Given the description of an element on the screen output the (x, y) to click on. 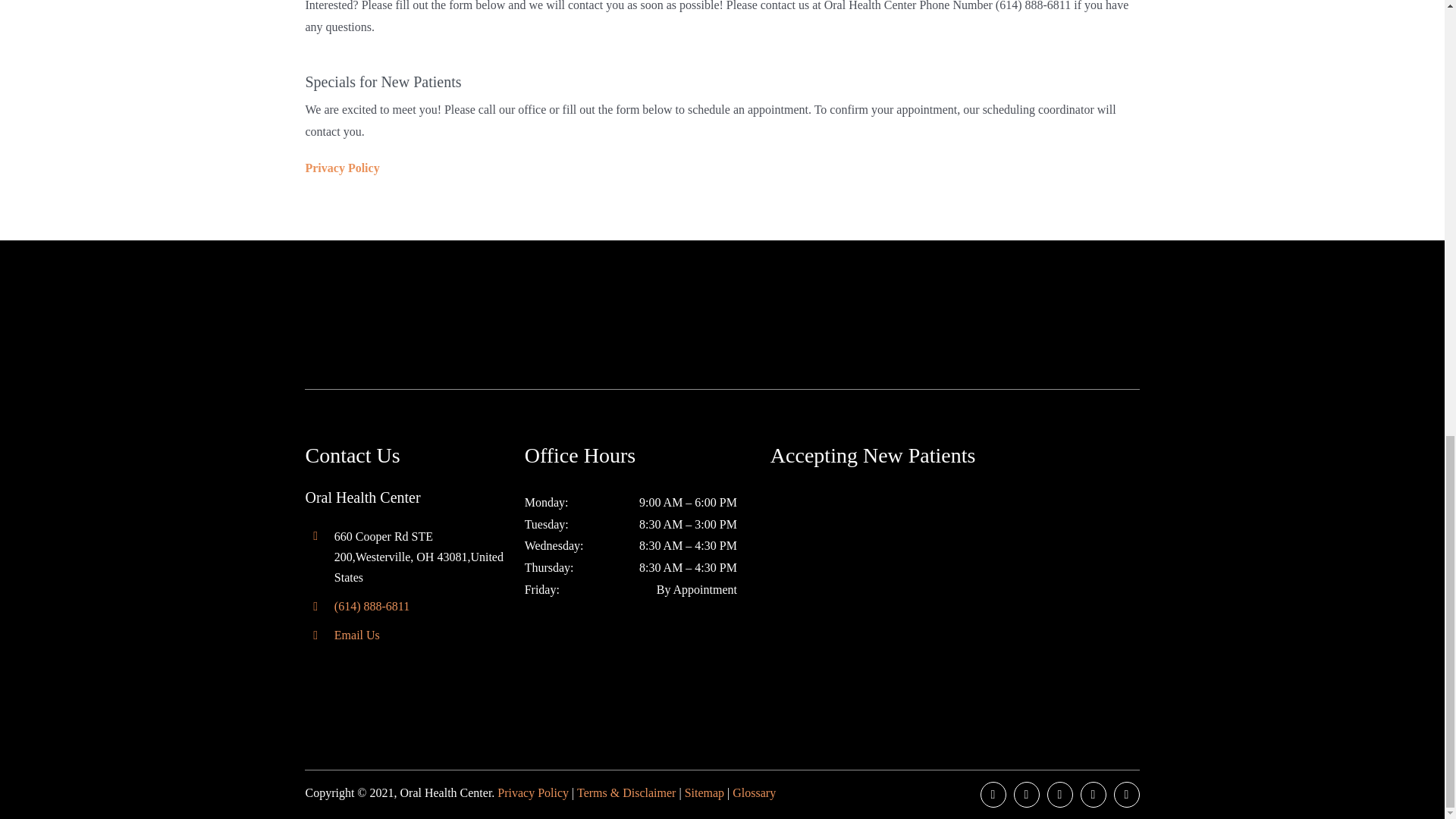
LinkedIn (1059, 794)
Yelp (1126, 794)
Facebook (992, 794)
YouTube (1093, 794)
Twitter (1026, 794)
